Given the description of an element on the screen output the (x, y) to click on. 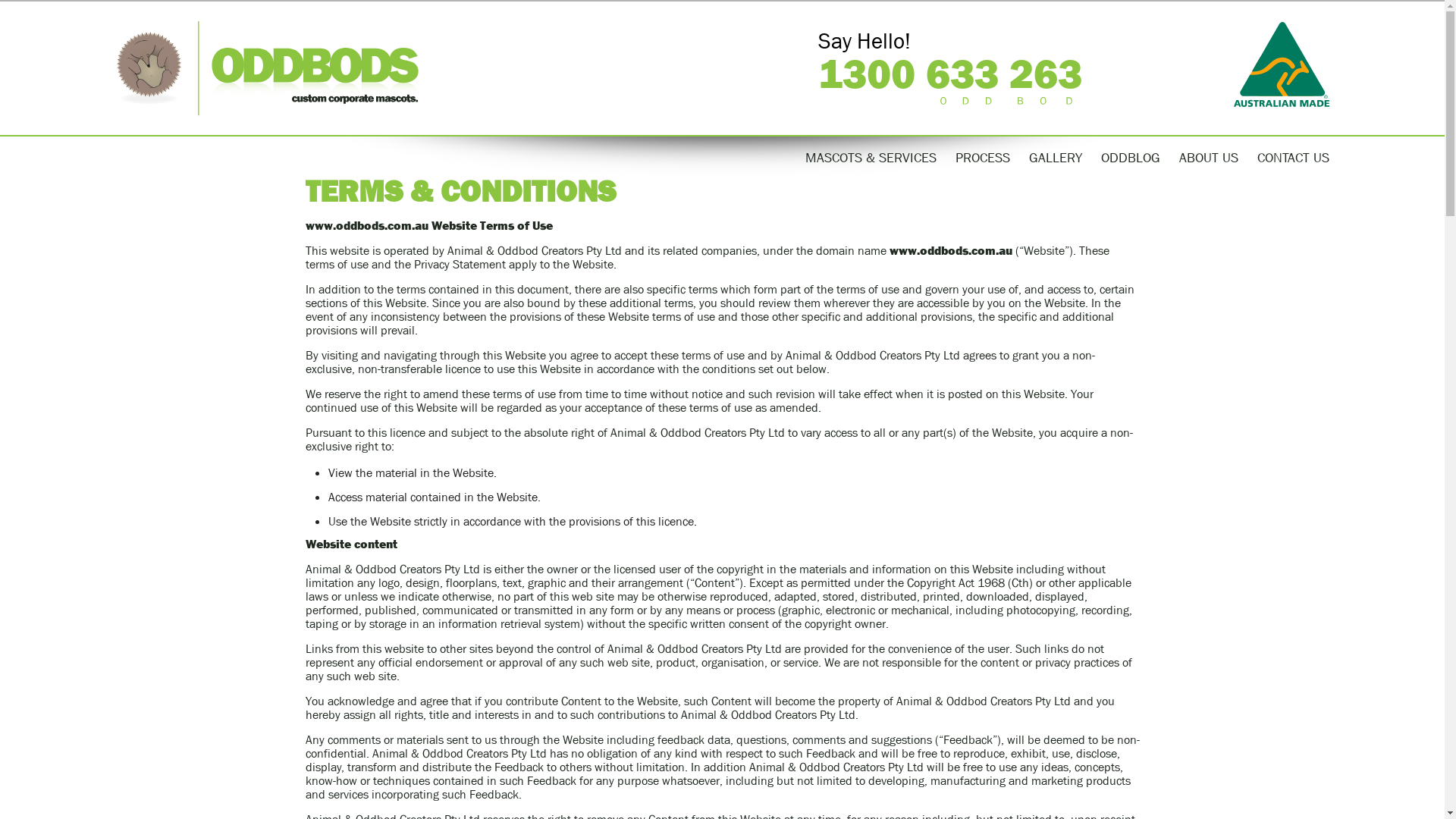
CONTACT US Element type: text (1293, 158)
1300 633 263 Element type: text (949, 74)
PROCESS Element type: text (982, 158)
MASCOTS & SERVICES Element type: text (870, 158)
ABOUT US Element type: text (1207, 158)
ODDBLOG Element type: text (1130, 158)
GALLERY Element type: text (1054, 158)
